Given the description of an element on the screen output the (x, y) to click on. 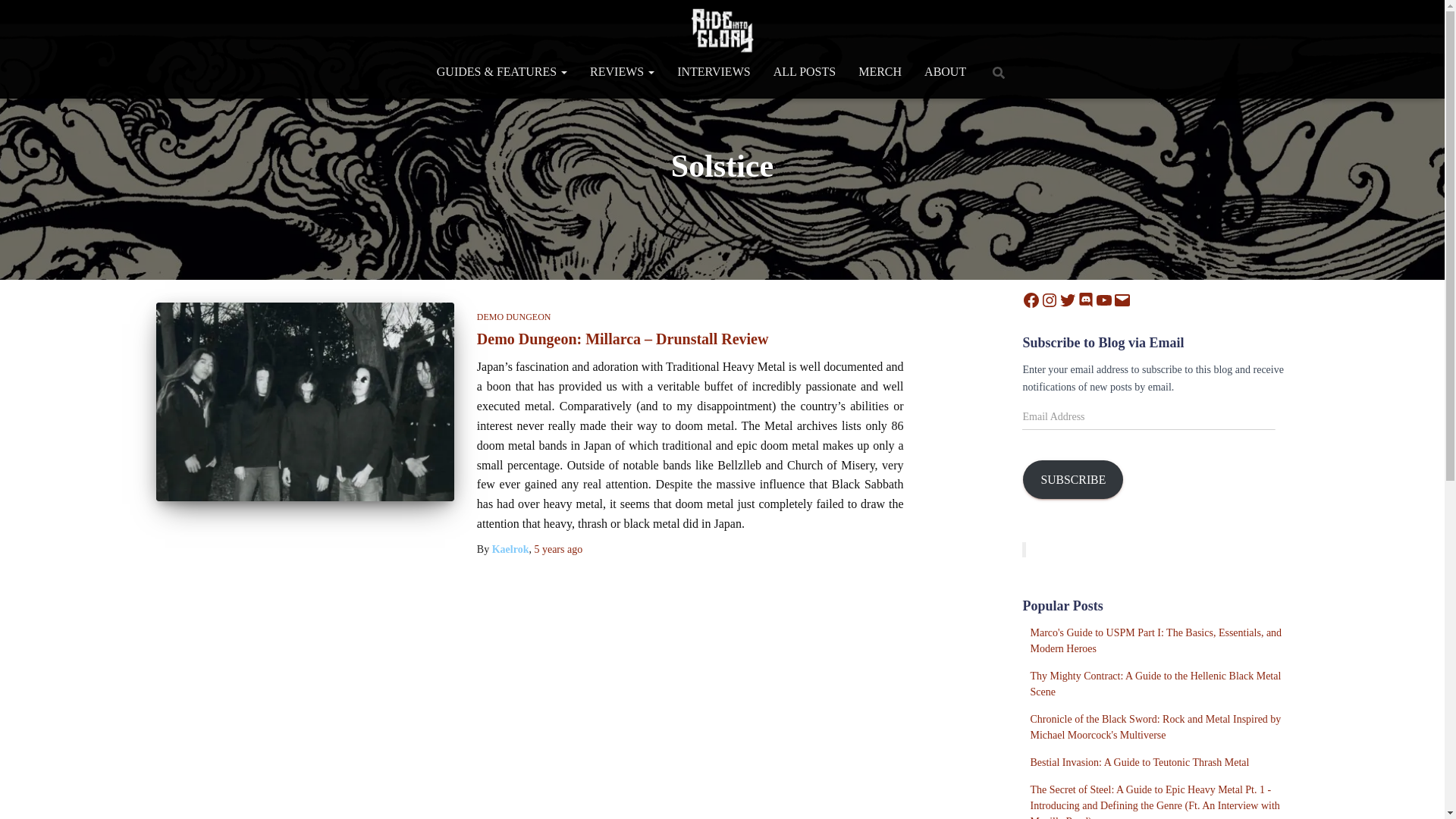
MERCH (879, 71)
Instagram (1049, 300)
Kaelrok (510, 549)
Email (1122, 300)
INTERVIEWS (713, 71)
5 years ago (558, 549)
REVIEWS (621, 71)
Twitter (1067, 300)
YouTube (1103, 300)
Reviews (621, 71)
Ride Into Glory (721, 30)
ALL POSTS (804, 71)
ABOUT (944, 71)
DEMO DUNGEON (514, 317)
Facebook (1031, 300)
